Given the description of an element on the screen output the (x, y) to click on. 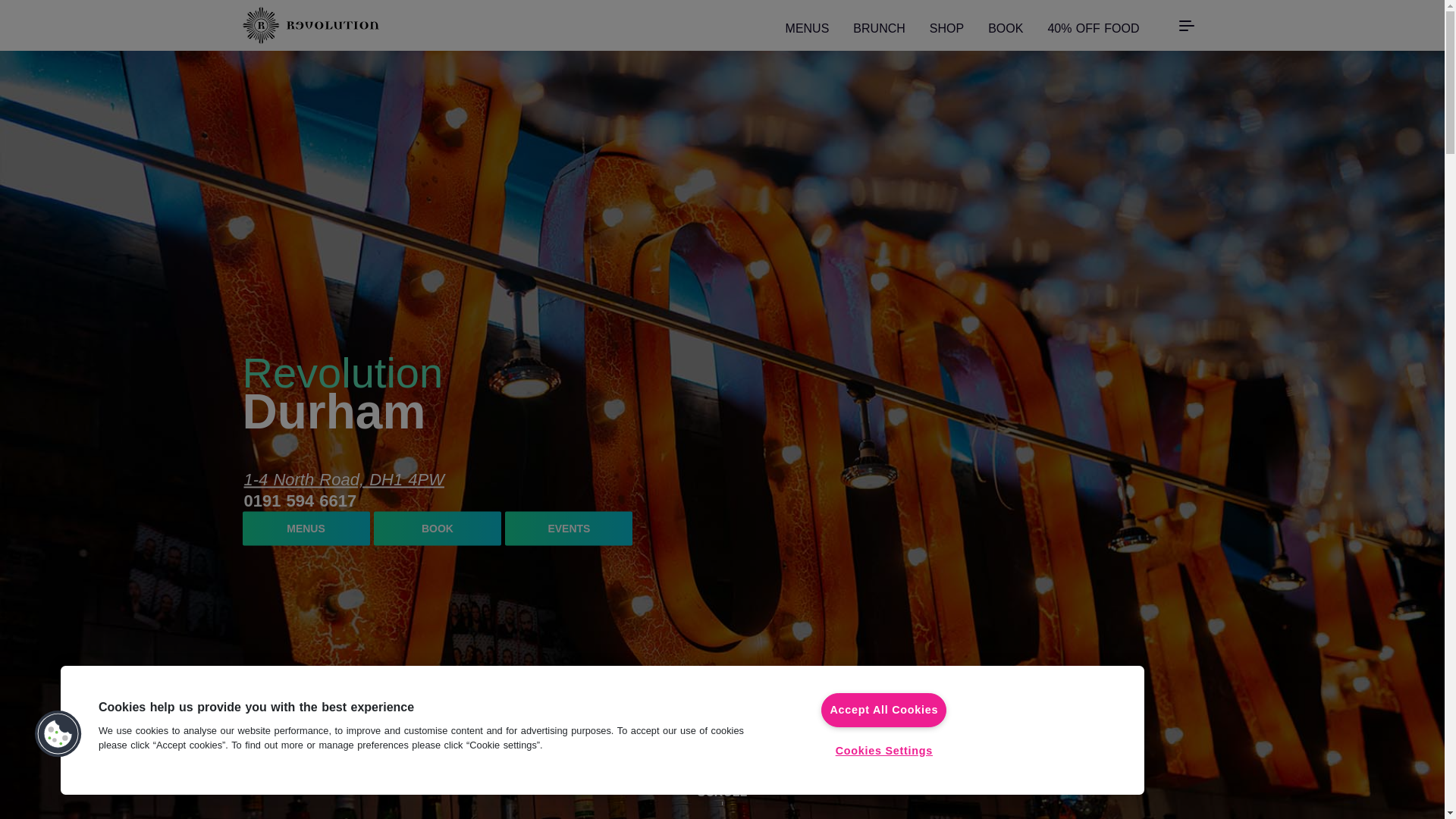
Cookies Button (57, 734)
BOOK (437, 528)
MENUS (807, 25)
BOOK (1005, 25)
SCROLL (722, 800)
Menus (306, 528)
0191 594 6617 (300, 500)
SHOP (946, 25)
BRUNCH (878, 25)
MENUS (306, 528)
Events (568, 528)
1-4 North Road, DH1 4PW (344, 479)
EVENTS (568, 528)
Book (437, 528)
